Given the description of an element on the screen output the (x, y) to click on. 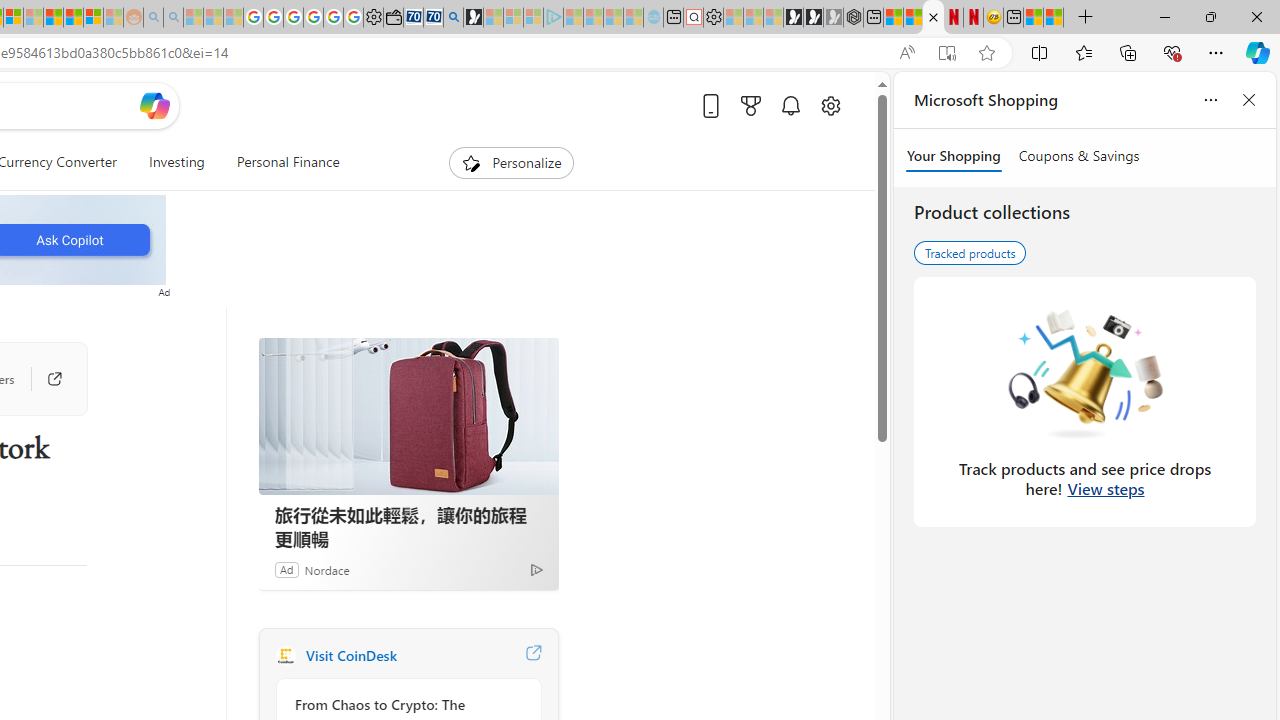
Investing (176, 162)
Go to publisher's site (44, 378)
Investing (176, 162)
Personal Finance (280, 162)
